Given the description of an element on the screen output the (x, y) to click on. 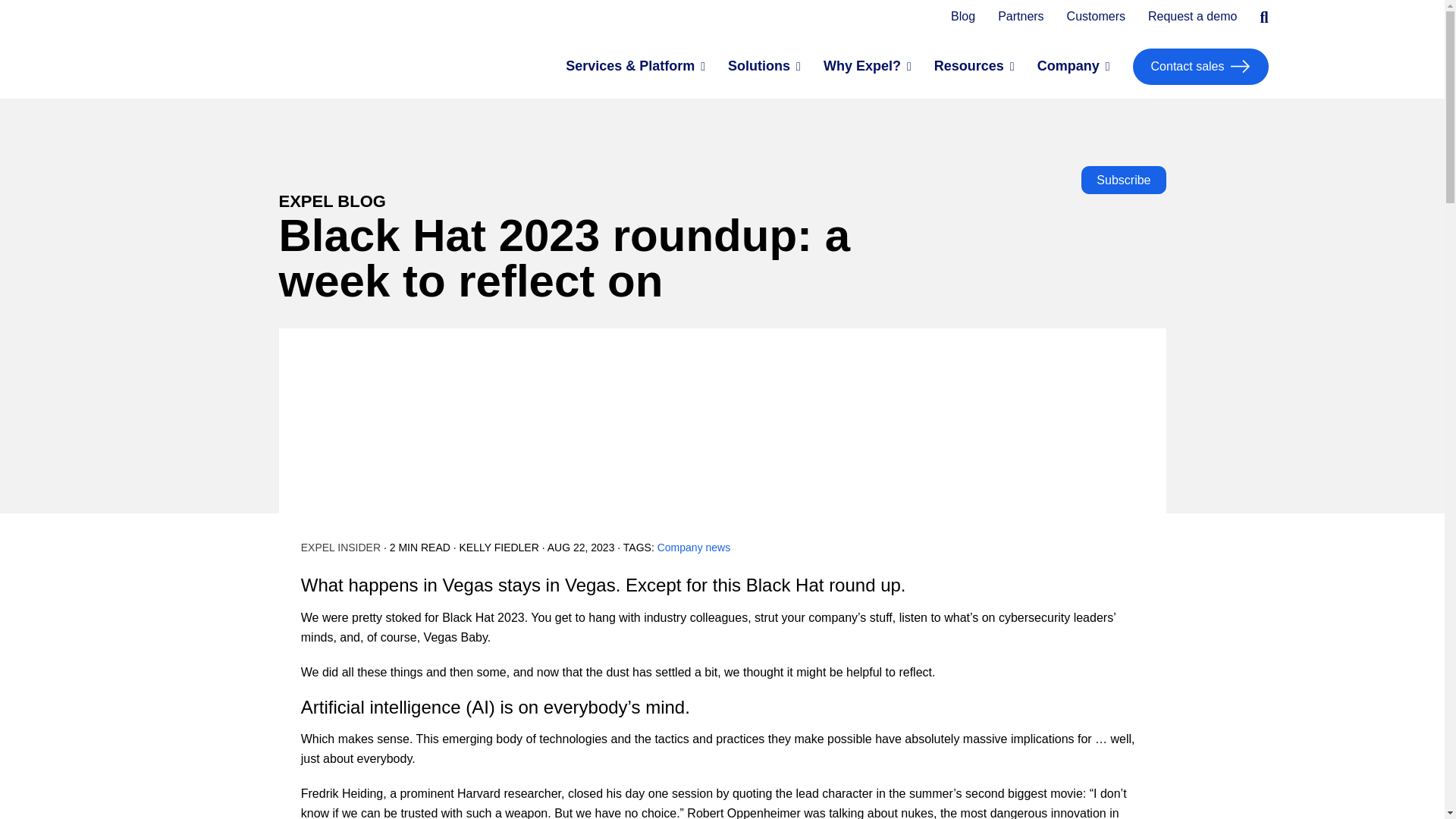
Solutions (759, 66)
Partners (1020, 17)
Request a demo (1192, 17)
Customers (1096, 17)
Why Expel? (862, 66)
Resources (969, 66)
Blog (962, 17)
